Given the description of an element on the screen output the (x, y) to click on. 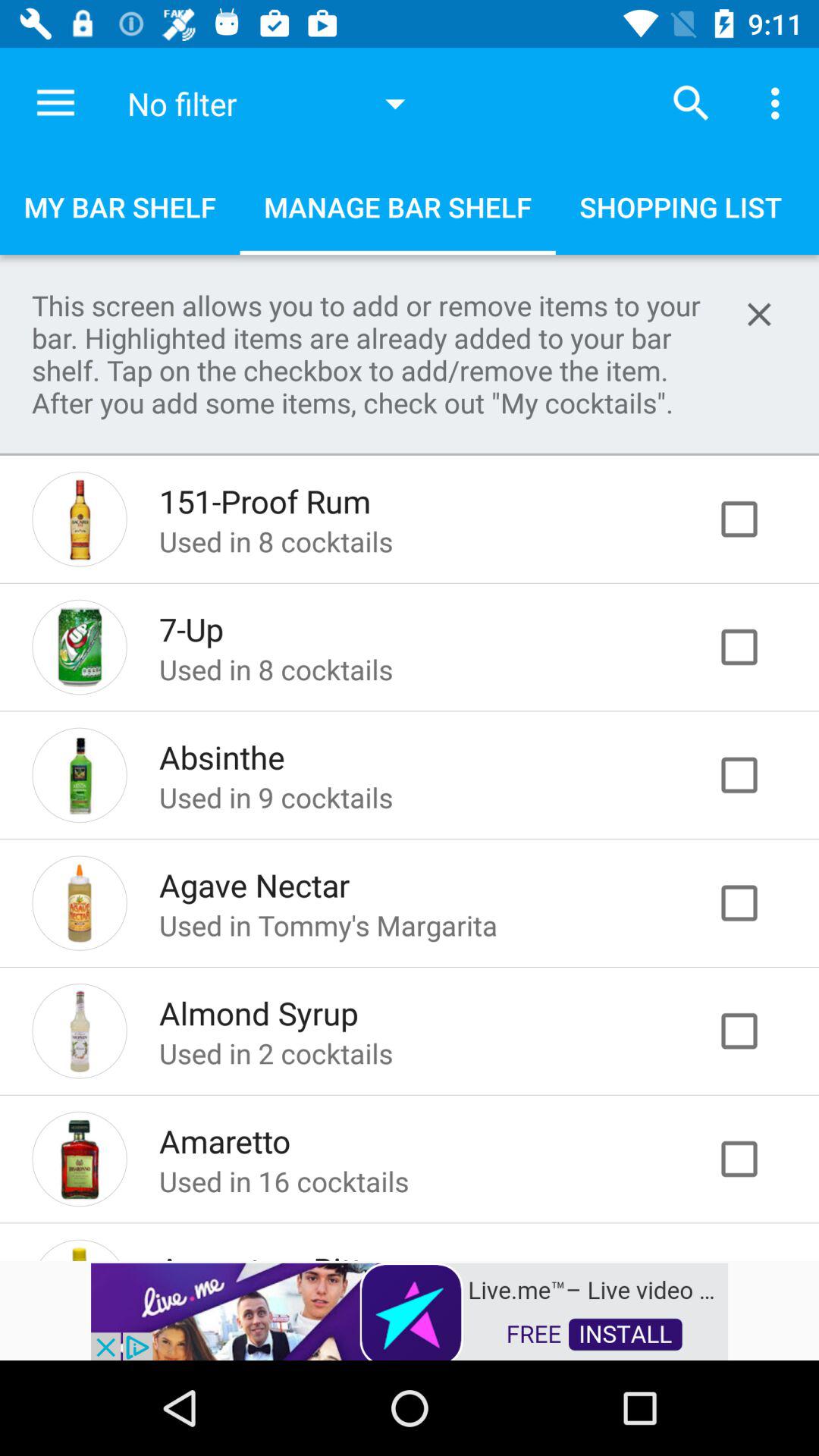
check option (755, 646)
